Given the description of an element on the screen output the (x, y) to click on. 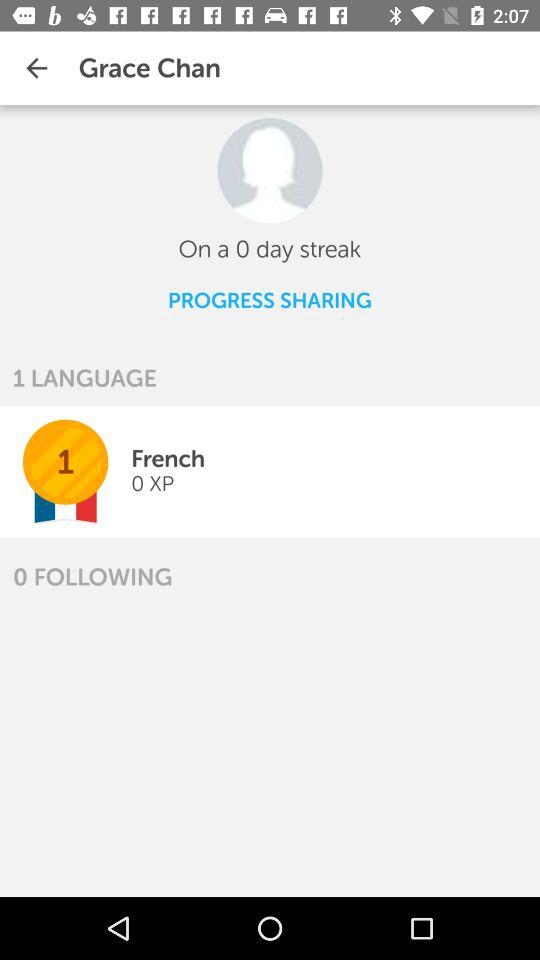
jump to 0 following icon (92, 576)
